Given the description of an element on the screen output the (x, y) to click on. 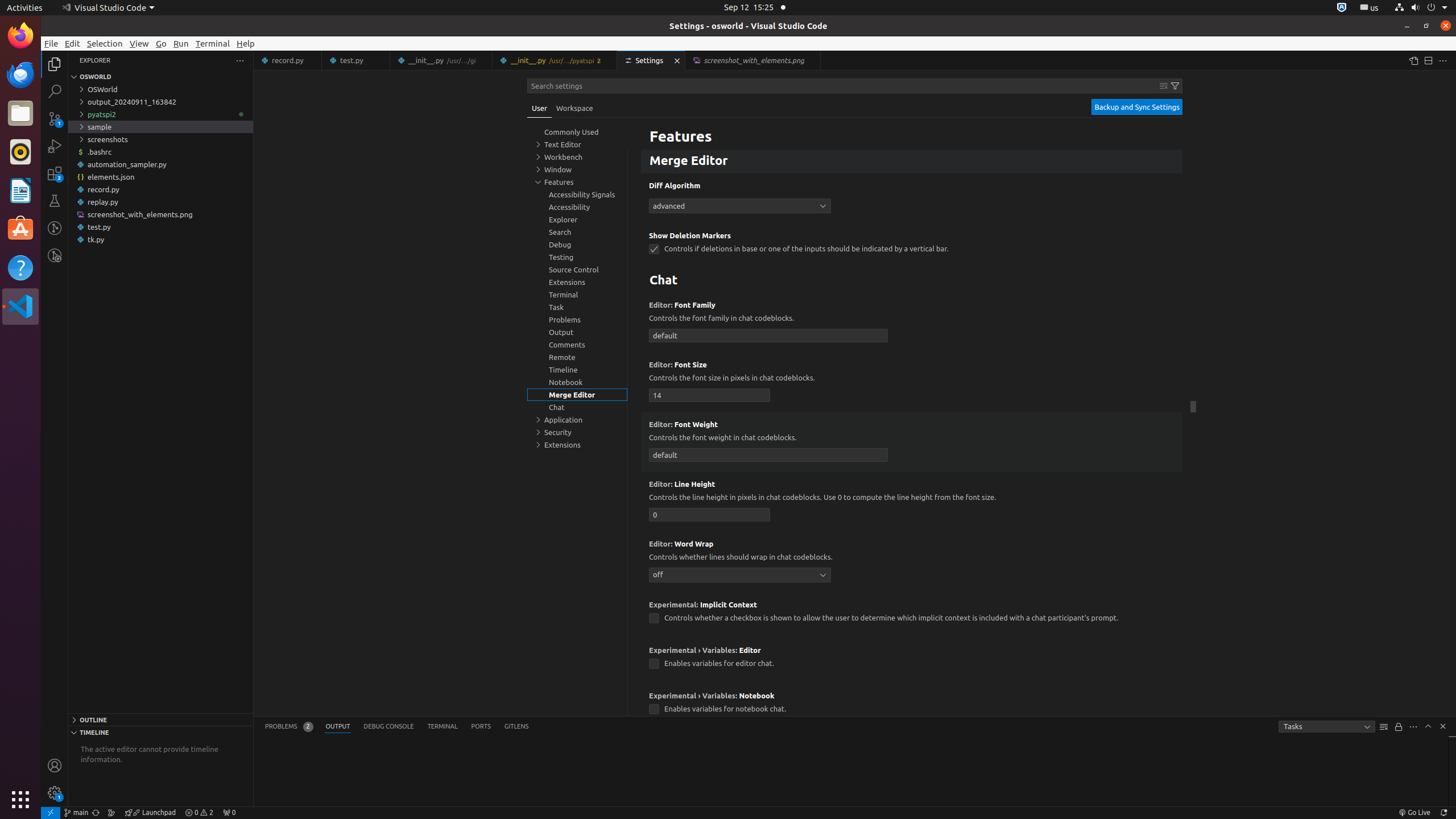
Go Element type: push-button (161, 43)
test.py Element type: tree-item (160, 226)
chat.editor.fontSize Element type: spin-button (709, 394)
Edit Element type: push-button (72, 43)
